Given the description of an element on the screen output the (x, y) to click on. 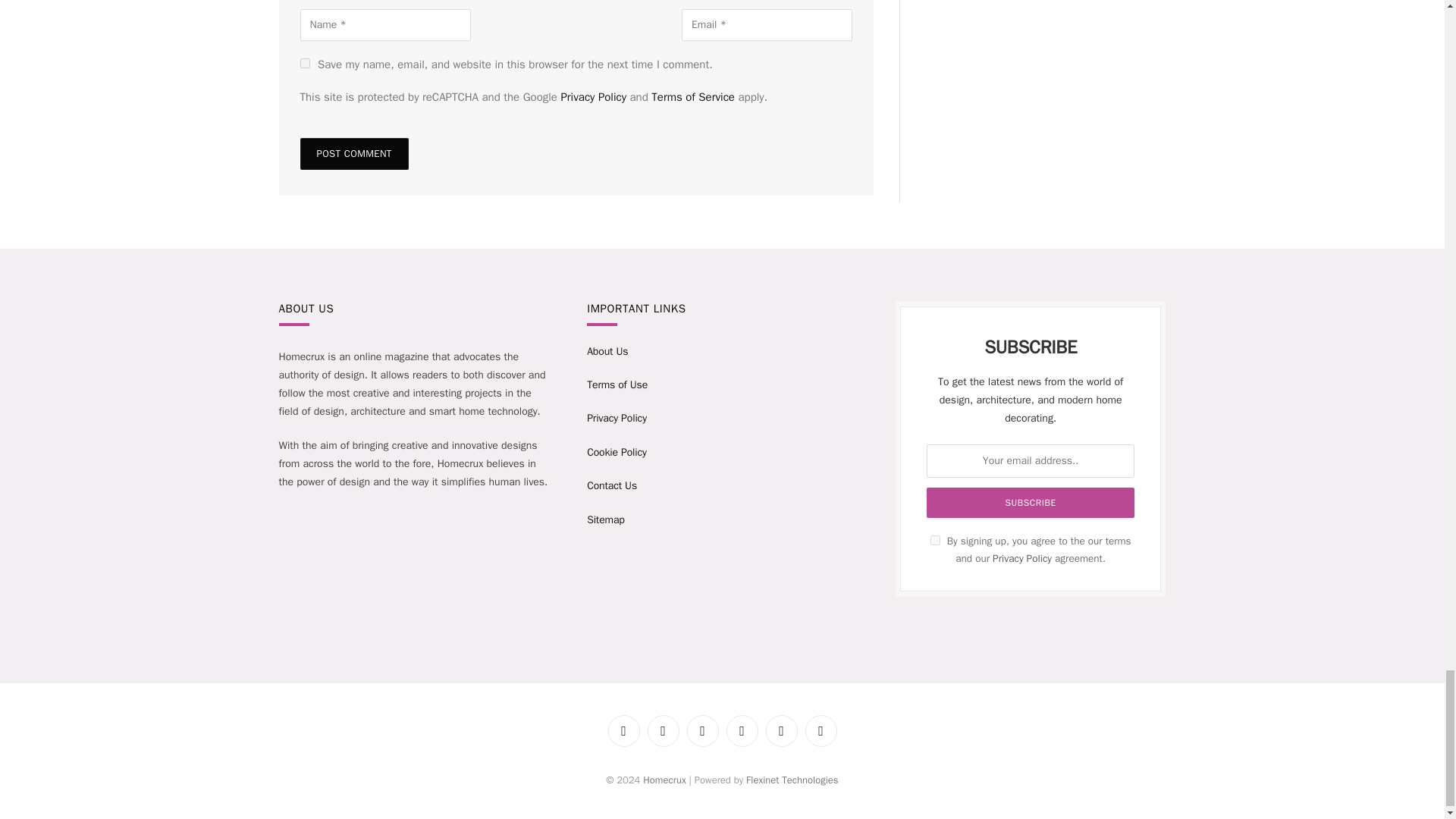
on (935, 540)
SUBSCRIBE (1030, 502)
yes (304, 62)
Post Comment (354, 153)
